Given the description of an element on the screen output the (x, y) to click on. 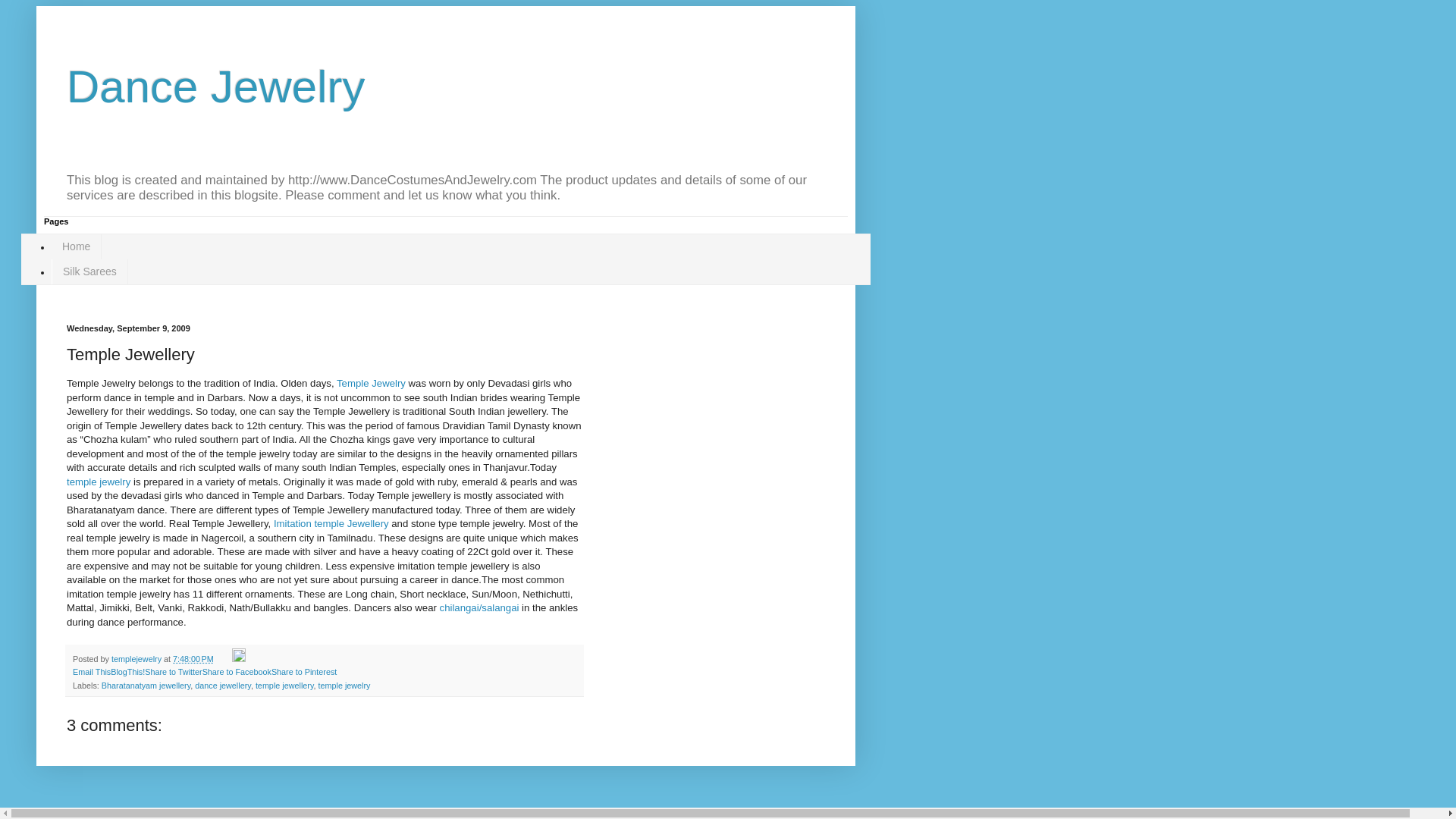
Share to Twitter (173, 671)
Temple Jewelry (99, 481)
Share to Facebook (236, 671)
author profile (137, 658)
Dance Jewelry (215, 86)
Share to Pinterest (303, 671)
Email This (91, 671)
temple jewelry (99, 481)
temple jewelry (343, 685)
